Given the description of an element on the screen output the (x, y) to click on. 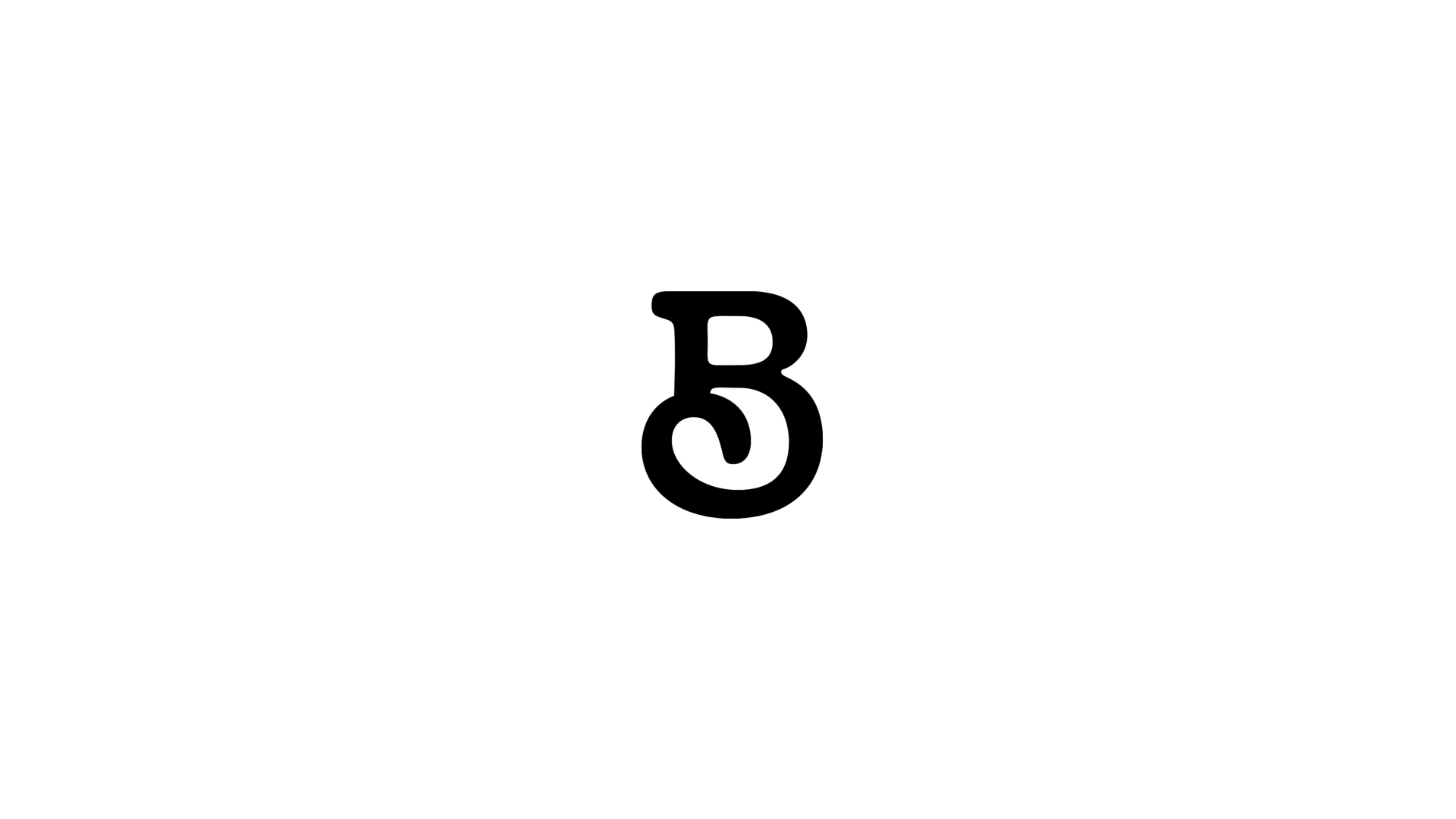
Search Element type: text (1368, 111)
